Given the description of an element on the screen output the (x, y) to click on. 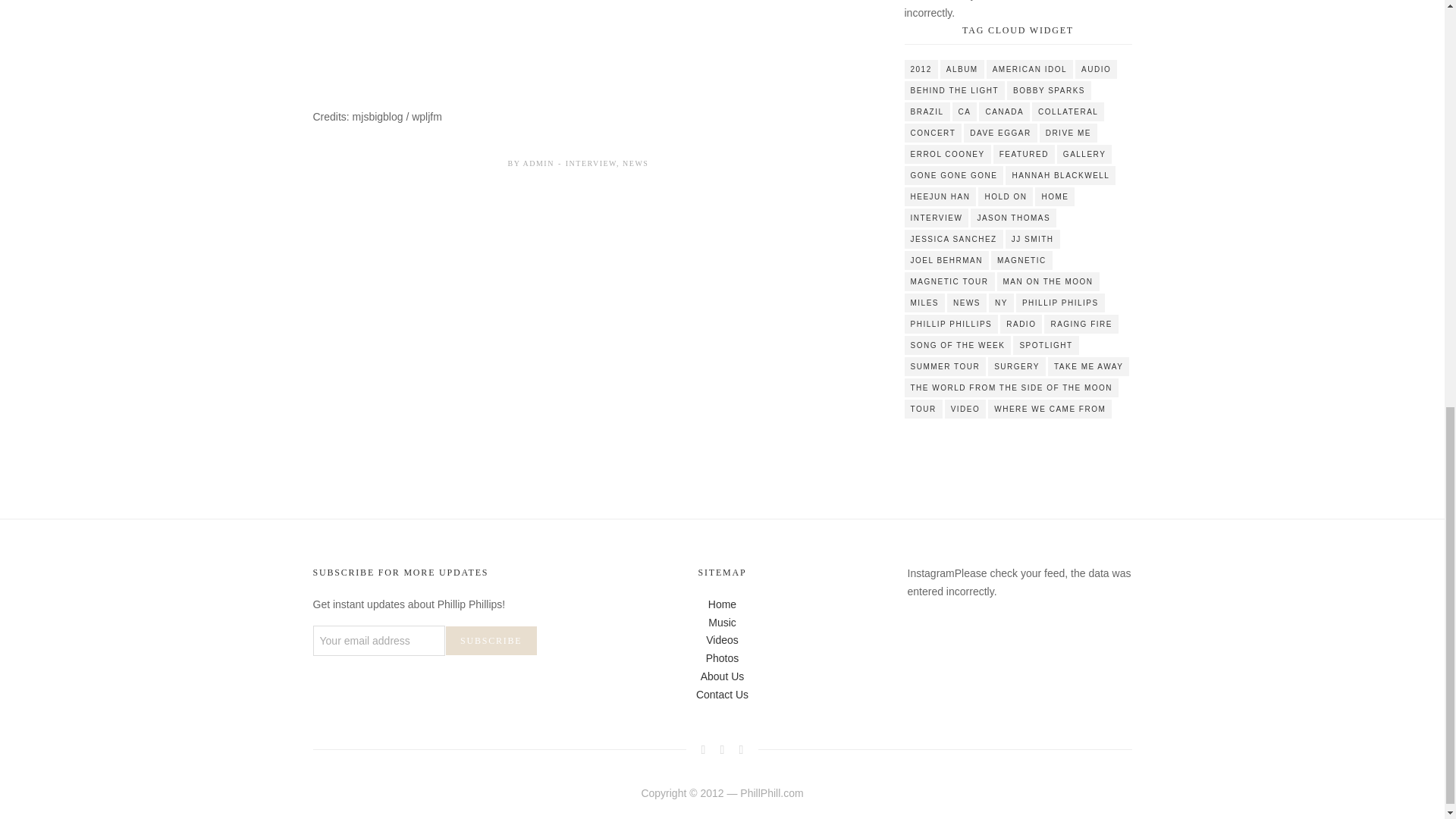
BOBBY SPARKS (1048, 90)
AUDIO (1095, 68)
BEHIND THE LIGHT (954, 90)
INTERVIEW (590, 162)
AMERICAN IDOL (1030, 68)
BRAZIL (926, 111)
CA (964, 111)
Subscribe (491, 639)
ADMIN (538, 162)
NEWS (635, 162)
2012 (920, 68)
ALBUM (962, 68)
